Given the description of an element on the screen output the (x, y) to click on. 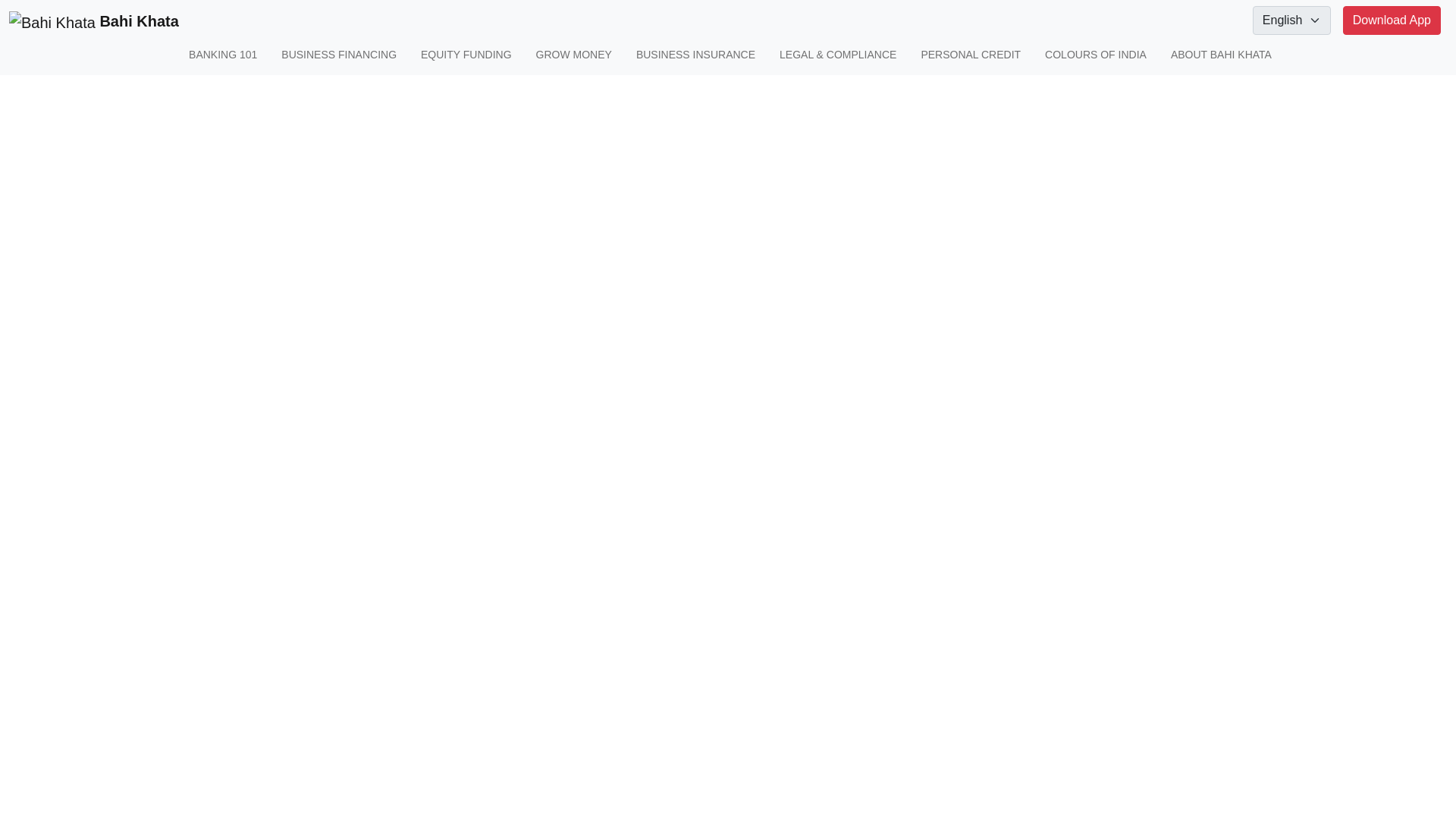
BUSINESS INSURANCE (695, 54)
Personal Credit (970, 54)
PERSONAL CREDIT (970, 54)
Business Financing (339, 54)
Equity Funding (466, 54)
About Bahi Khata (1221, 54)
GROW MONEY (573, 54)
BUSINESS FINANCING (339, 54)
Grow Money (573, 54)
COLOURS OF INDIA (1096, 54)
Banking 101 (223, 54)
BANKING 101 (223, 54)
Bahi Khata (90, 21)
Business Insurance (695, 54)
Download App (1391, 20)
